Given the description of an element on the screen output the (x, y) to click on. 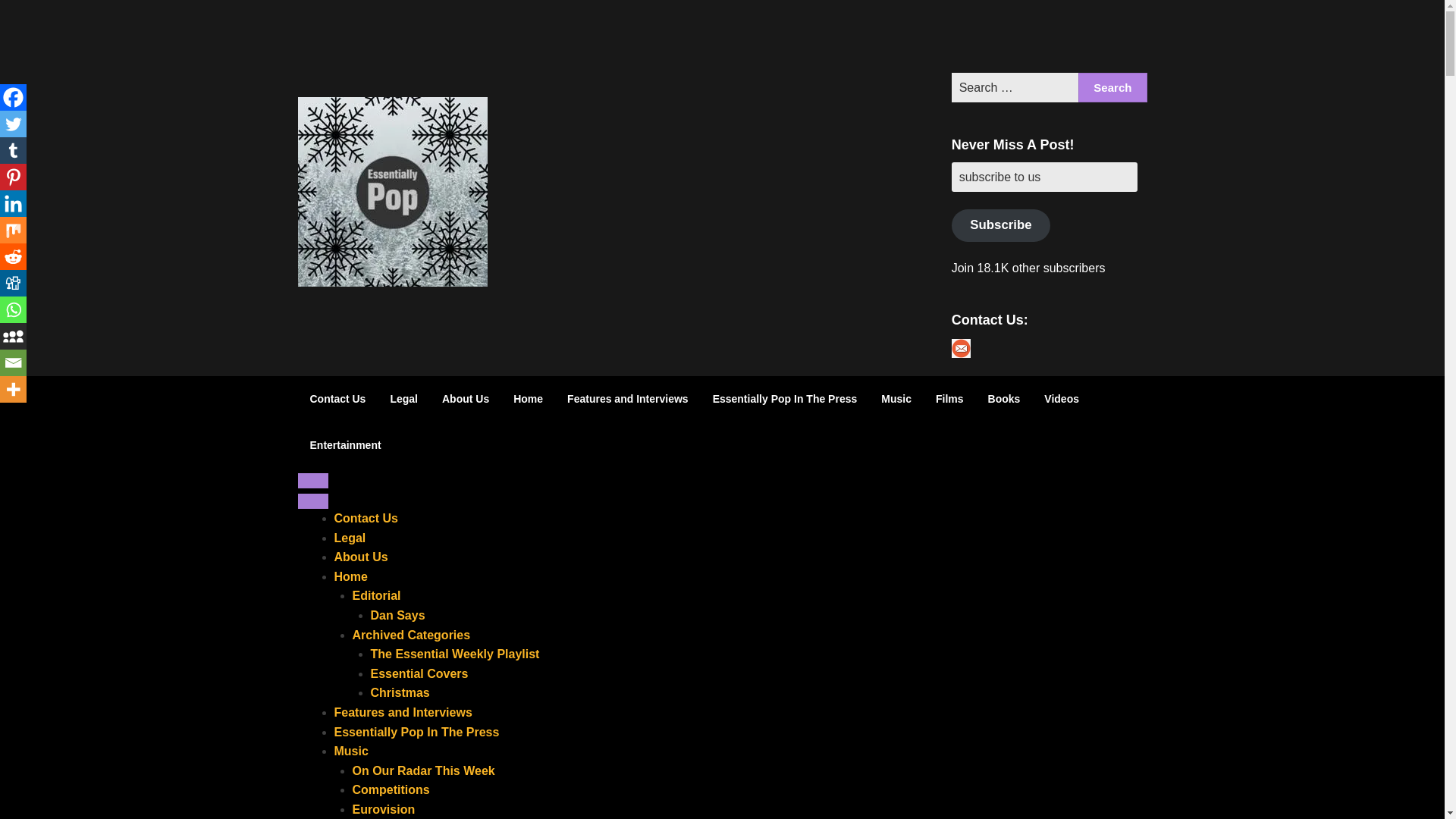
YouTube (1088, 36)
More (13, 388)
Twitter (13, 123)
Instagram (1048, 36)
Search (1112, 87)
Legal (403, 398)
Reddit (13, 256)
Mix (13, 230)
MySpace (13, 335)
Tumblr (13, 150)
